Given the description of an element on the screen output the (x, y) to click on. 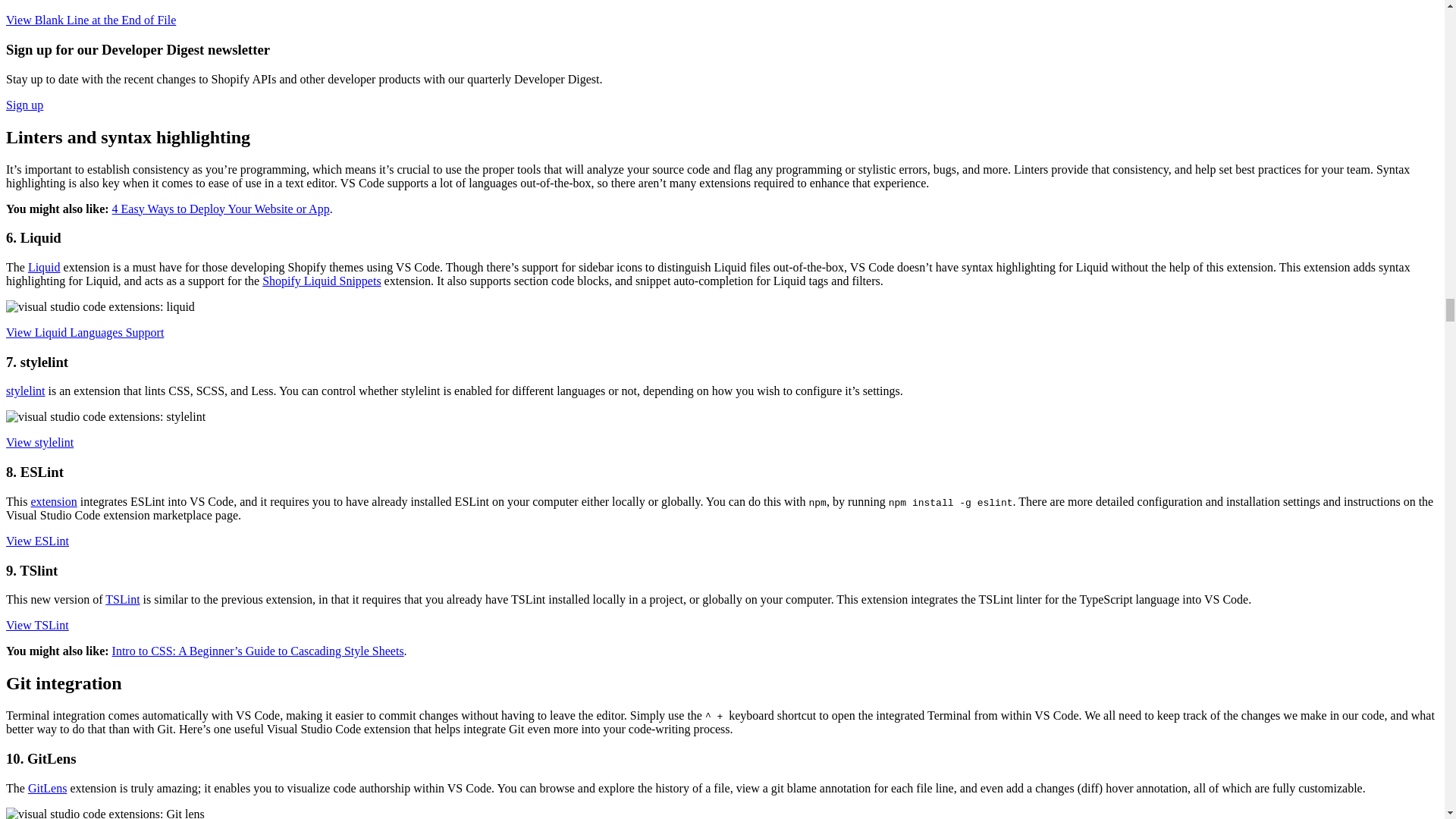
intro to CSS (258, 650)
deploy website (221, 208)
